Given the description of an element on the screen output the (x, y) to click on. 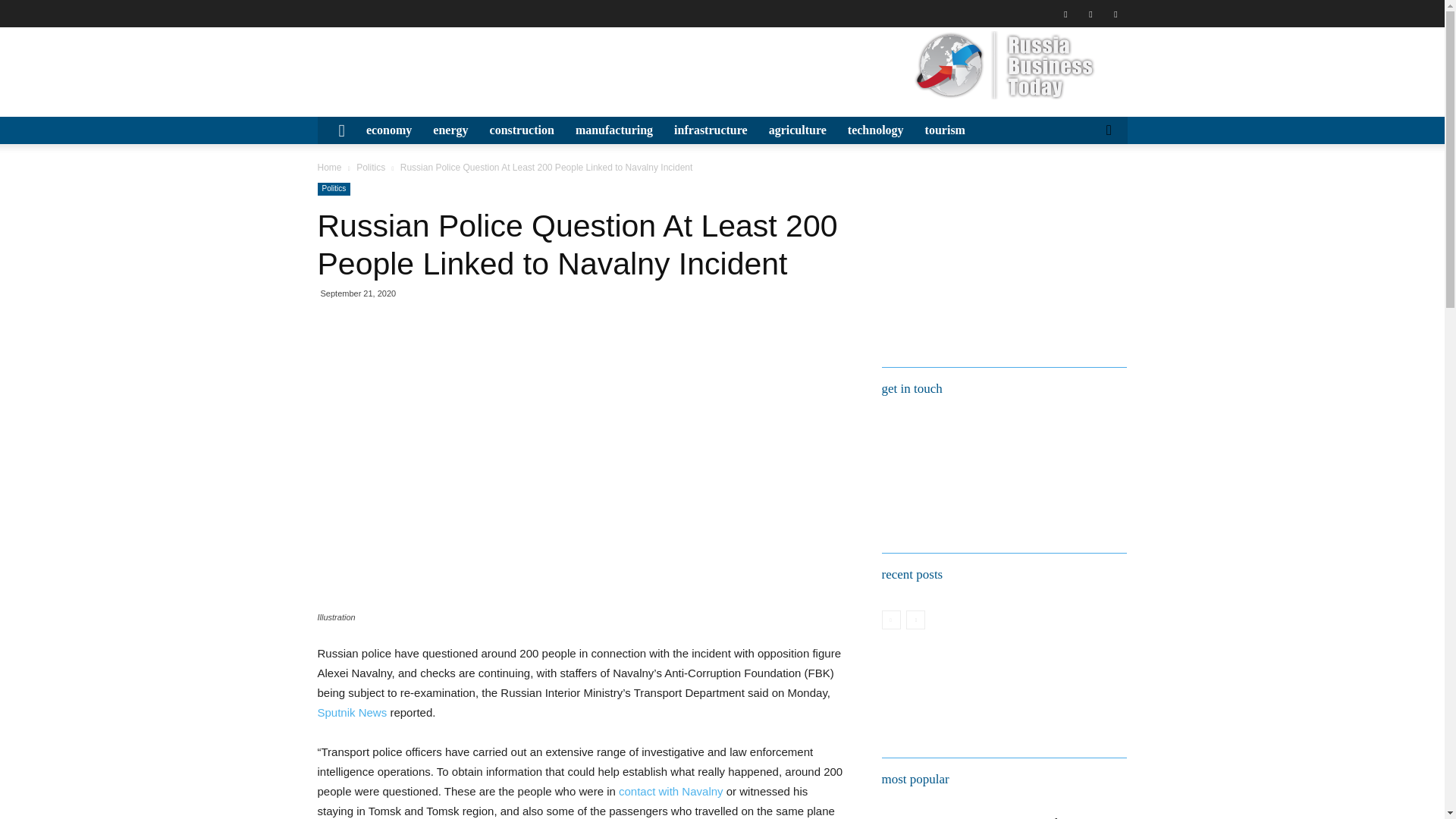
energy (450, 130)
economy (388, 130)
agriculture (797, 130)
View all posts in Politics (370, 167)
Sputnik News (352, 712)
contact with Navalny (670, 790)
construction (521, 130)
technology (875, 130)
Home (328, 167)
tourism (944, 130)
Search (1085, 186)
Politics (370, 167)
infrastructure (710, 130)
manufacturing (613, 130)
Politics (333, 188)
